Given the description of an element on the screen output the (x, y) to click on. 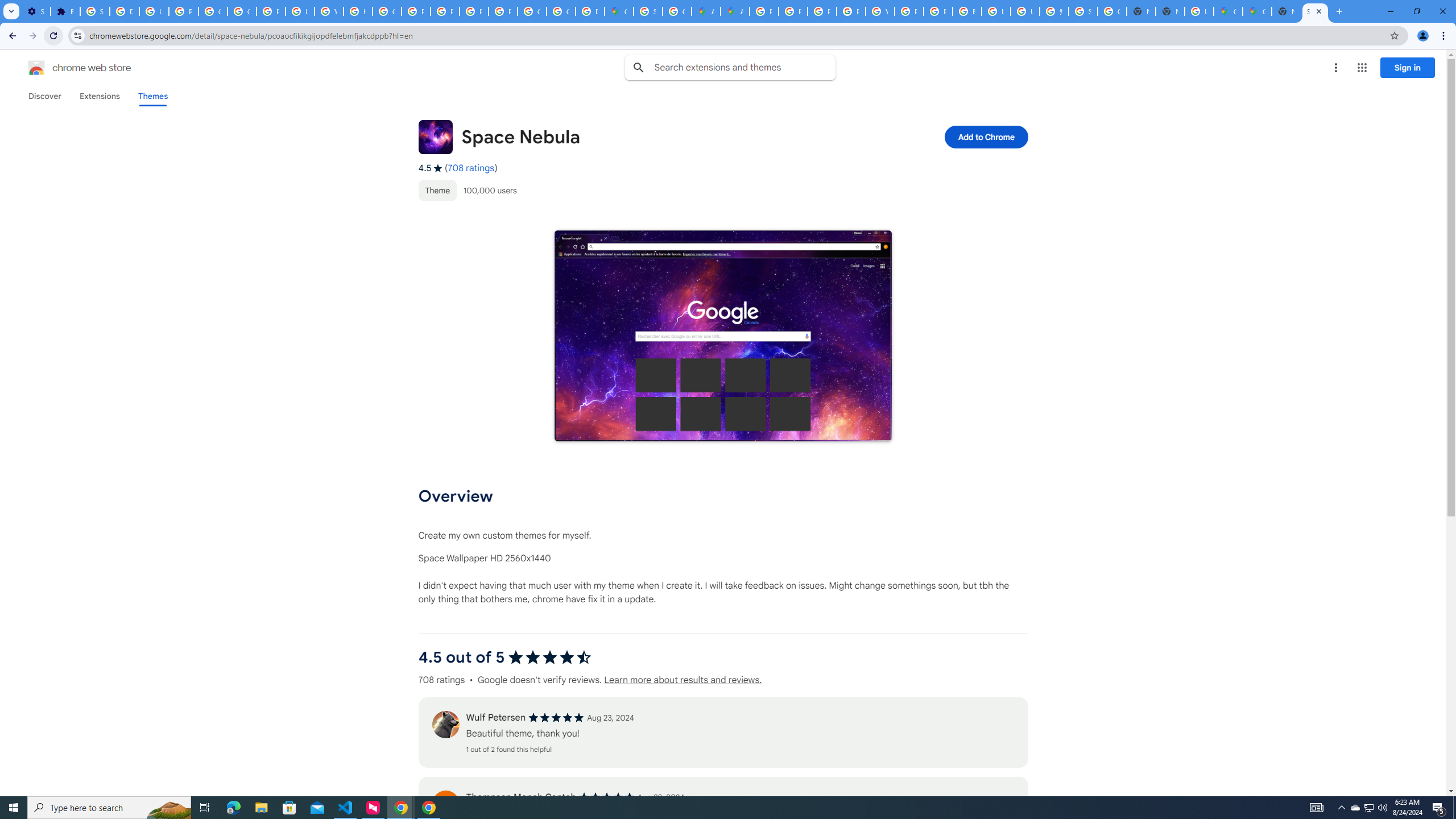
New Tab (1286, 11)
Sign in - Google Accounts (95, 11)
